Given the description of an element on the screen output the (x, y) to click on. 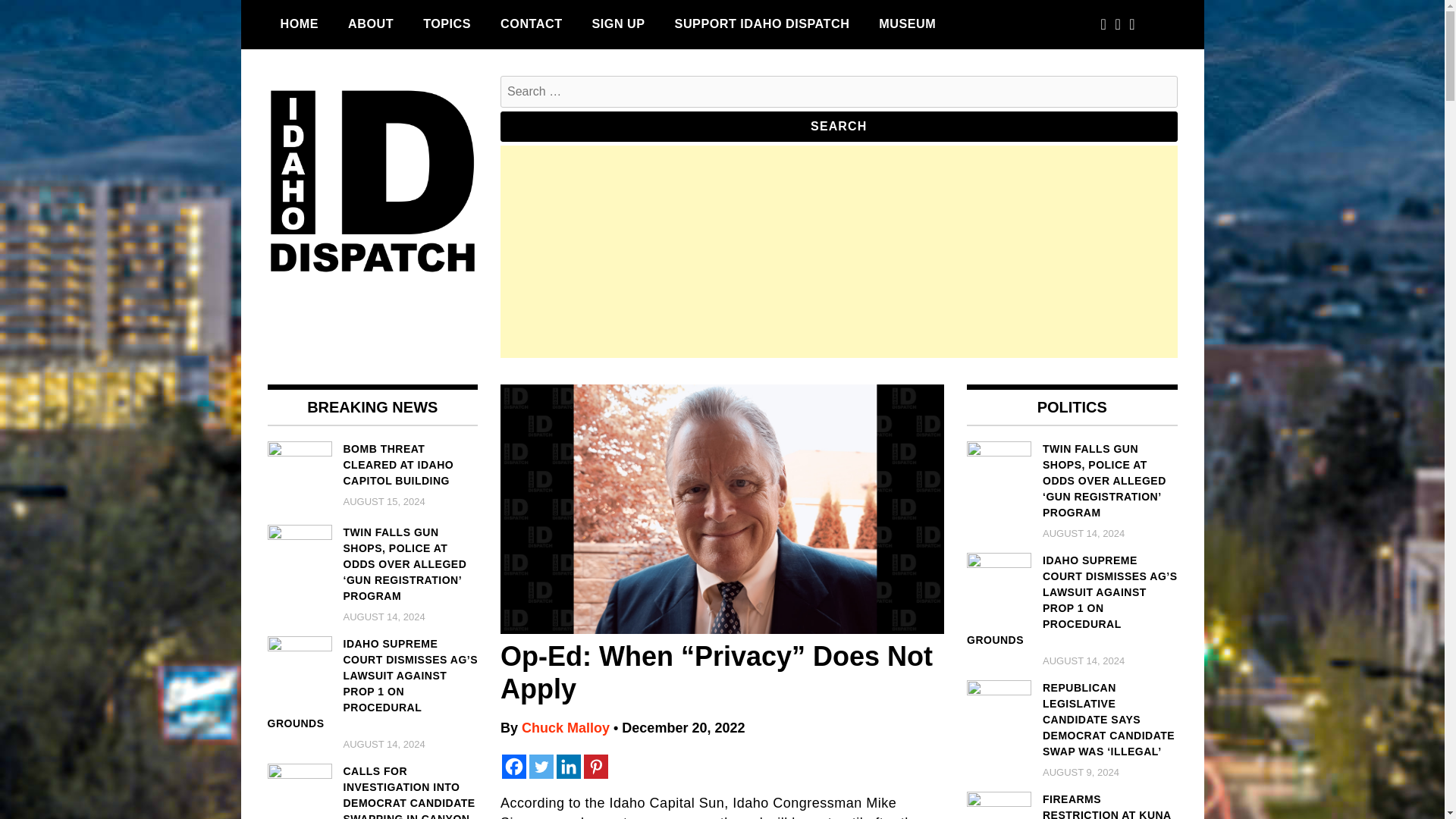
Facebook (513, 766)
Twitter (541, 766)
HOME (298, 23)
Search (838, 126)
Pinterest (595, 766)
MUSEUM (907, 23)
CONTACT (531, 23)
Posts by Chuck Malloy (565, 727)
Chuck Malloy (565, 727)
